Given the description of an element on the screen output the (x, y) to click on. 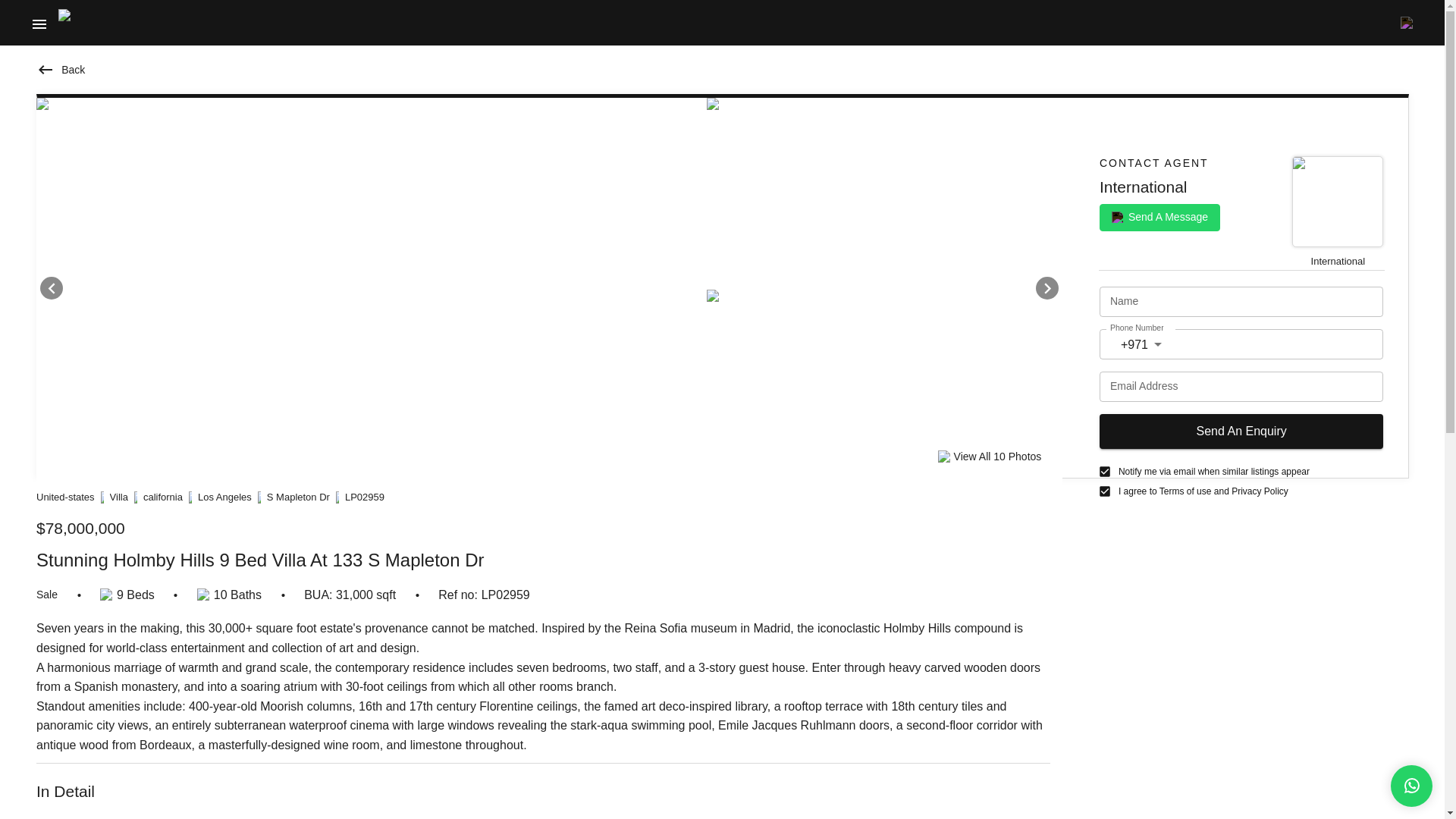
Back (60, 69)
United-states (65, 497)
View All 10 Photos (989, 456)
Villa (118, 497)
california (162, 497)
